Given the description of an element on the screen output the (x, y) to click on. 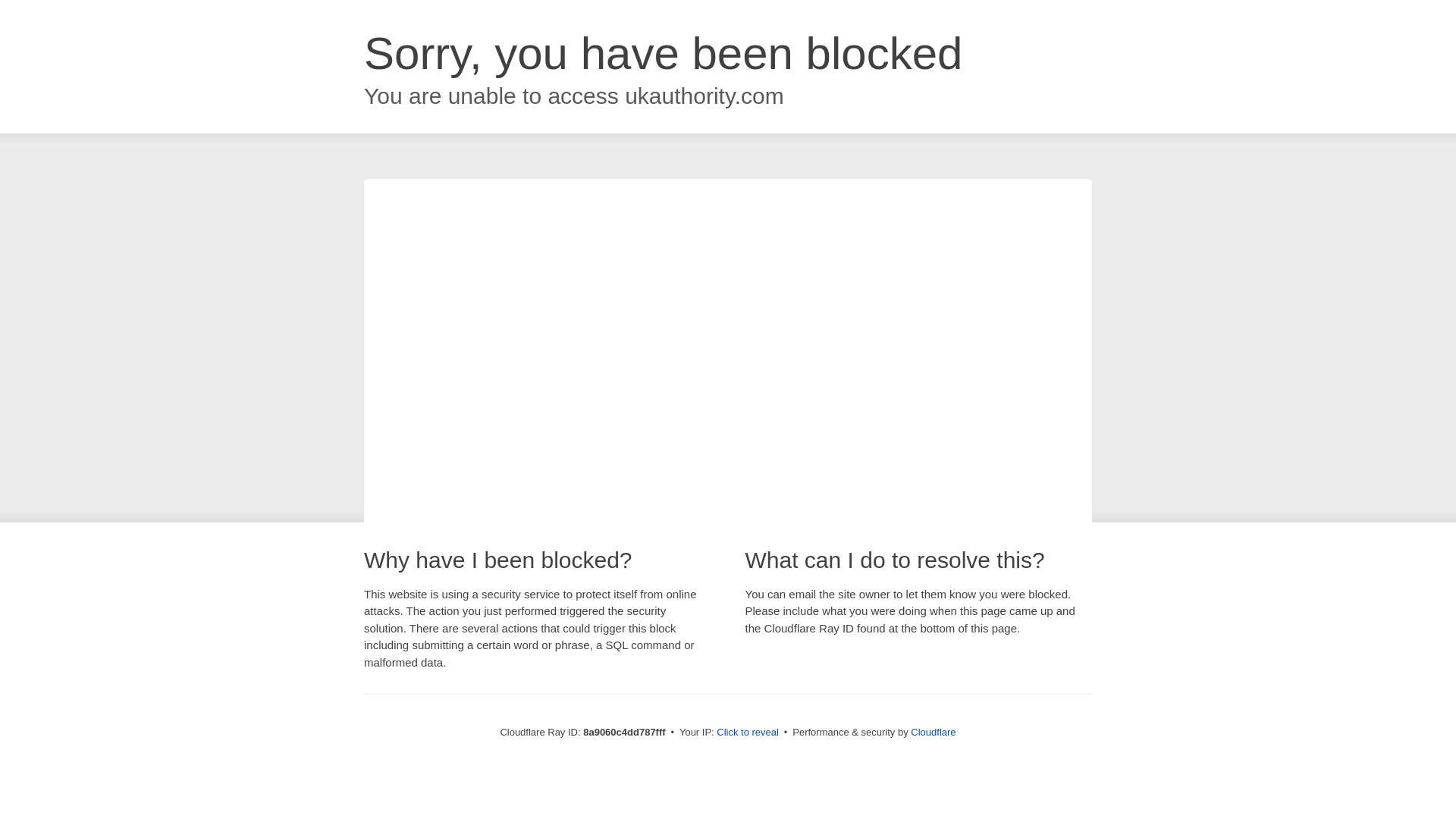
Cloudflare (933, 731)
Click to reveal (747, 732)
